Given the description of an element on the screen output the (x, y) to click on. 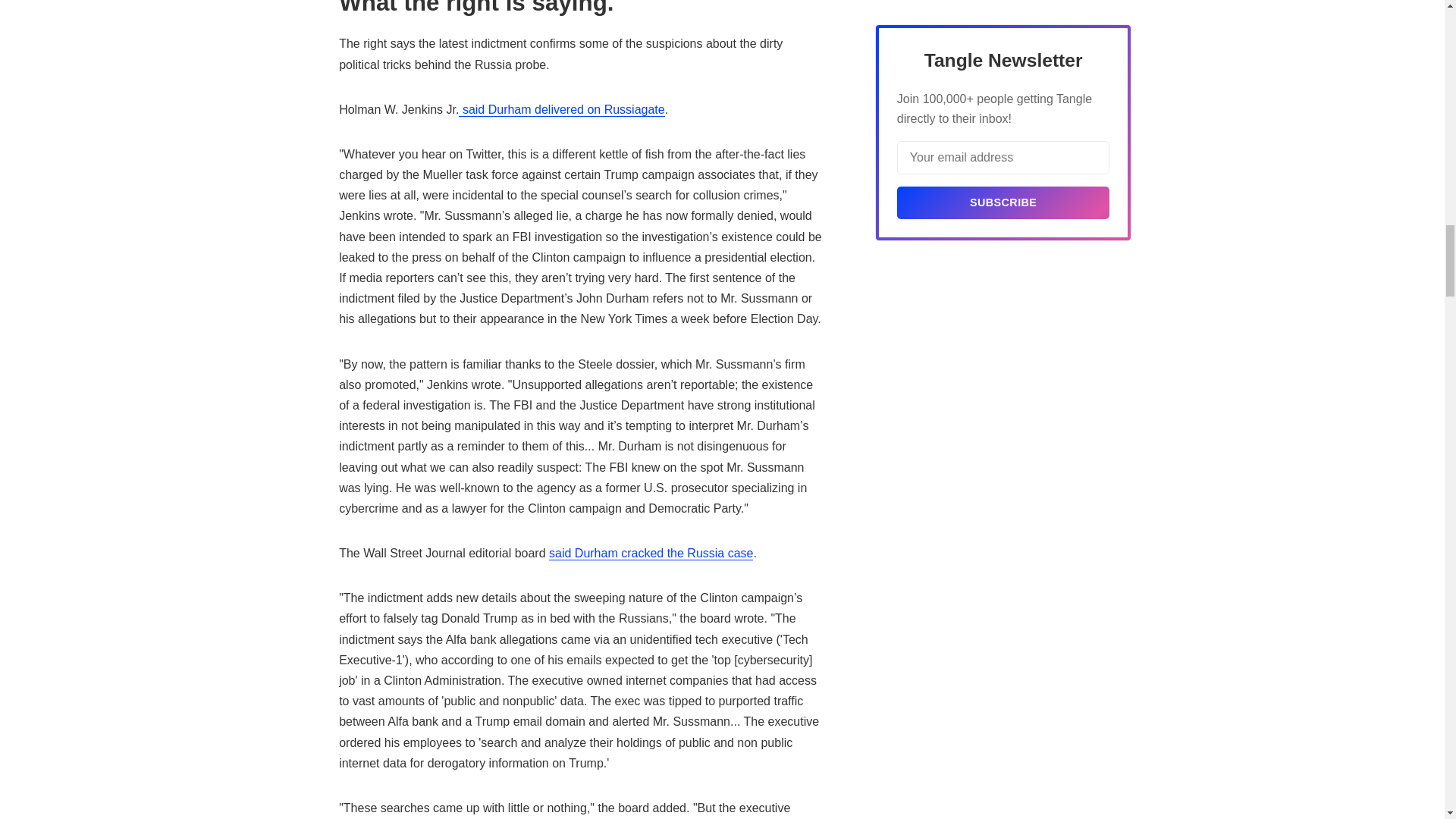
said Durham delivered on Russiagate (560, 110)
said Durham cracked the Russia case (650, 553)
